Given the description of an element on the screen output the (x, y) to click on. 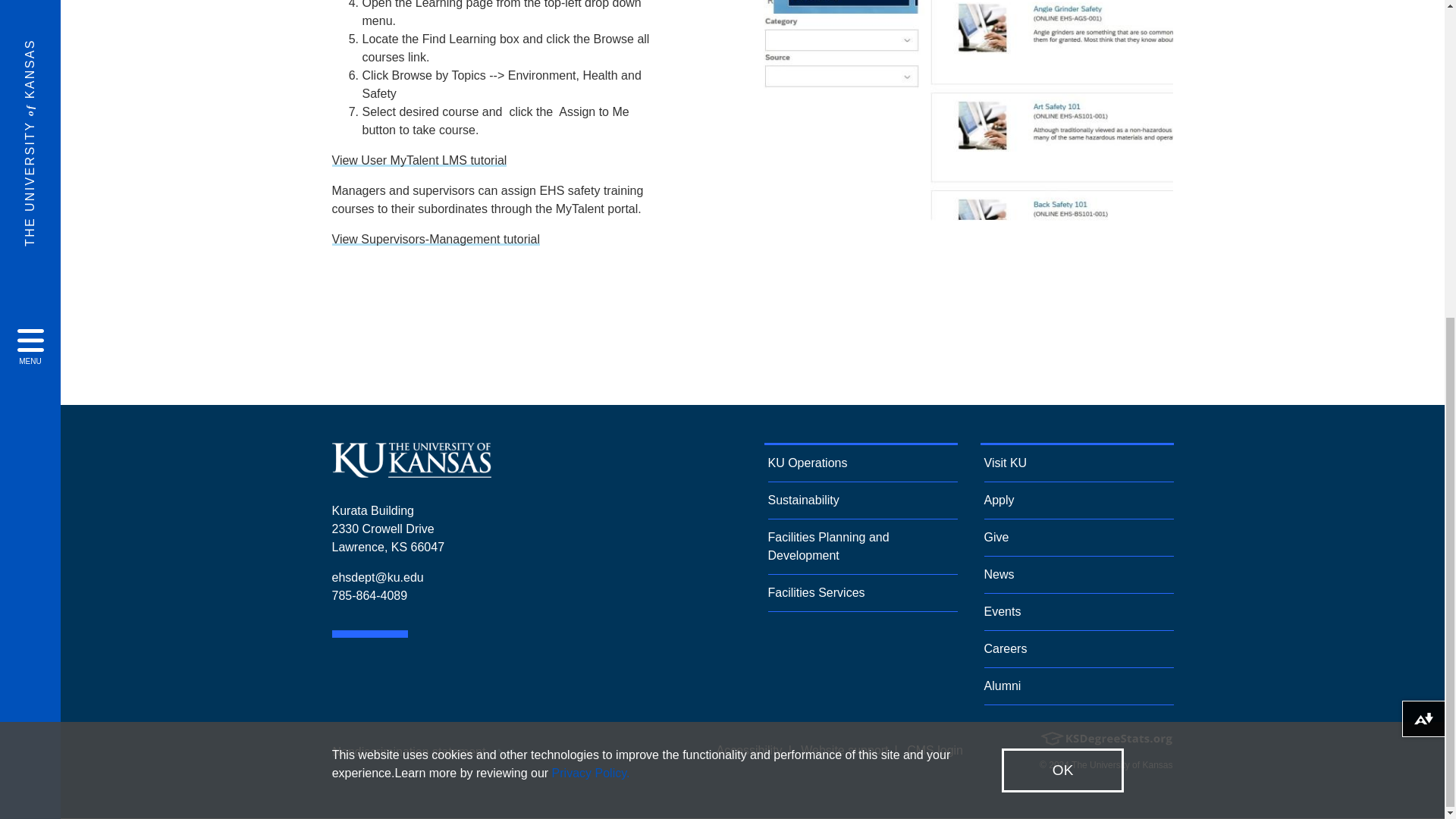
The University of Kansas (411, 471)
OK (1062, 256)
Privacy Policy. (590, 258)
